Given the description of an element on the screen output the (x, y) to click on. 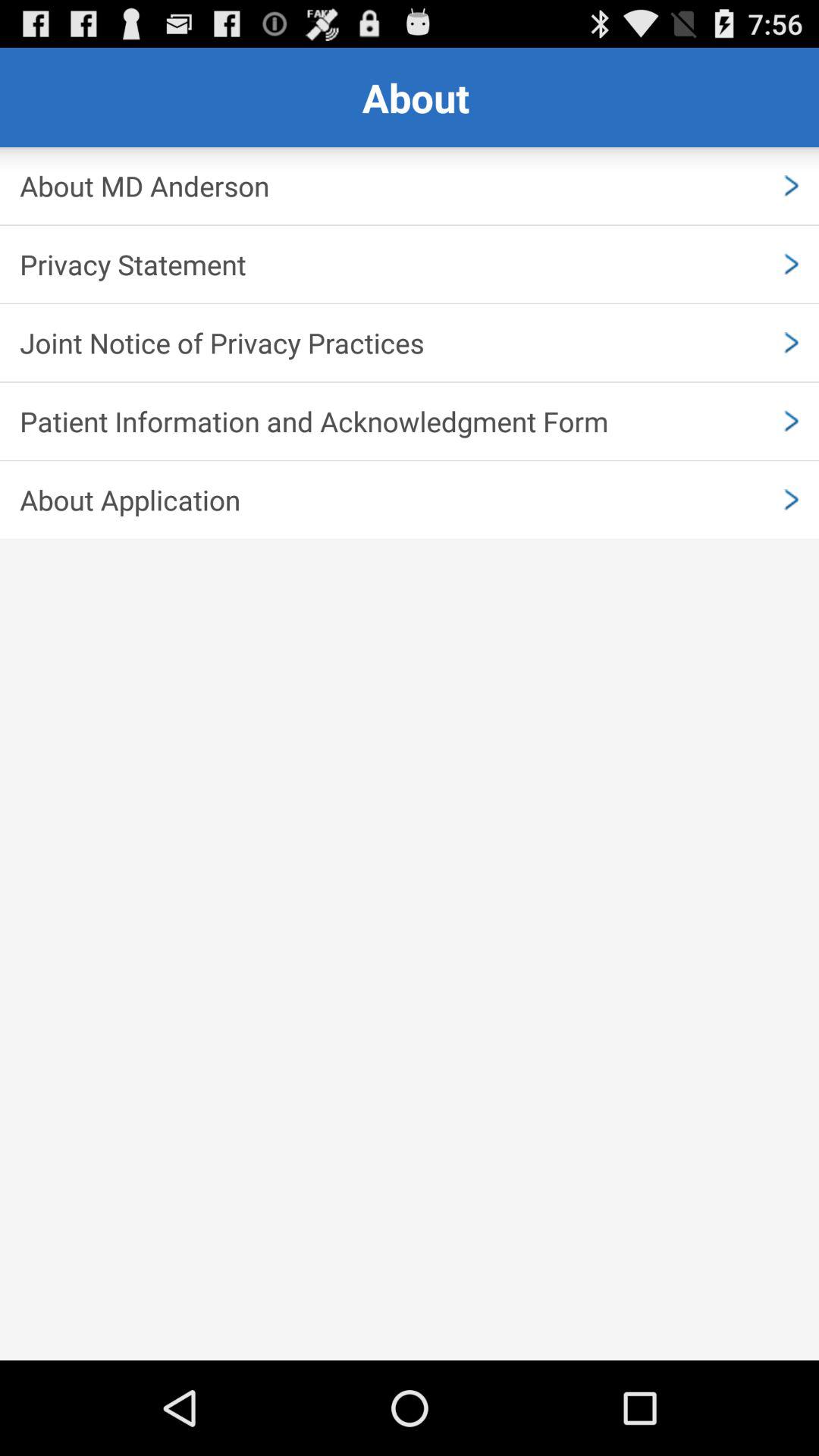
tap patient information and (409, 421)
